Given the description of an element on the screen output the (x, y) to click on. 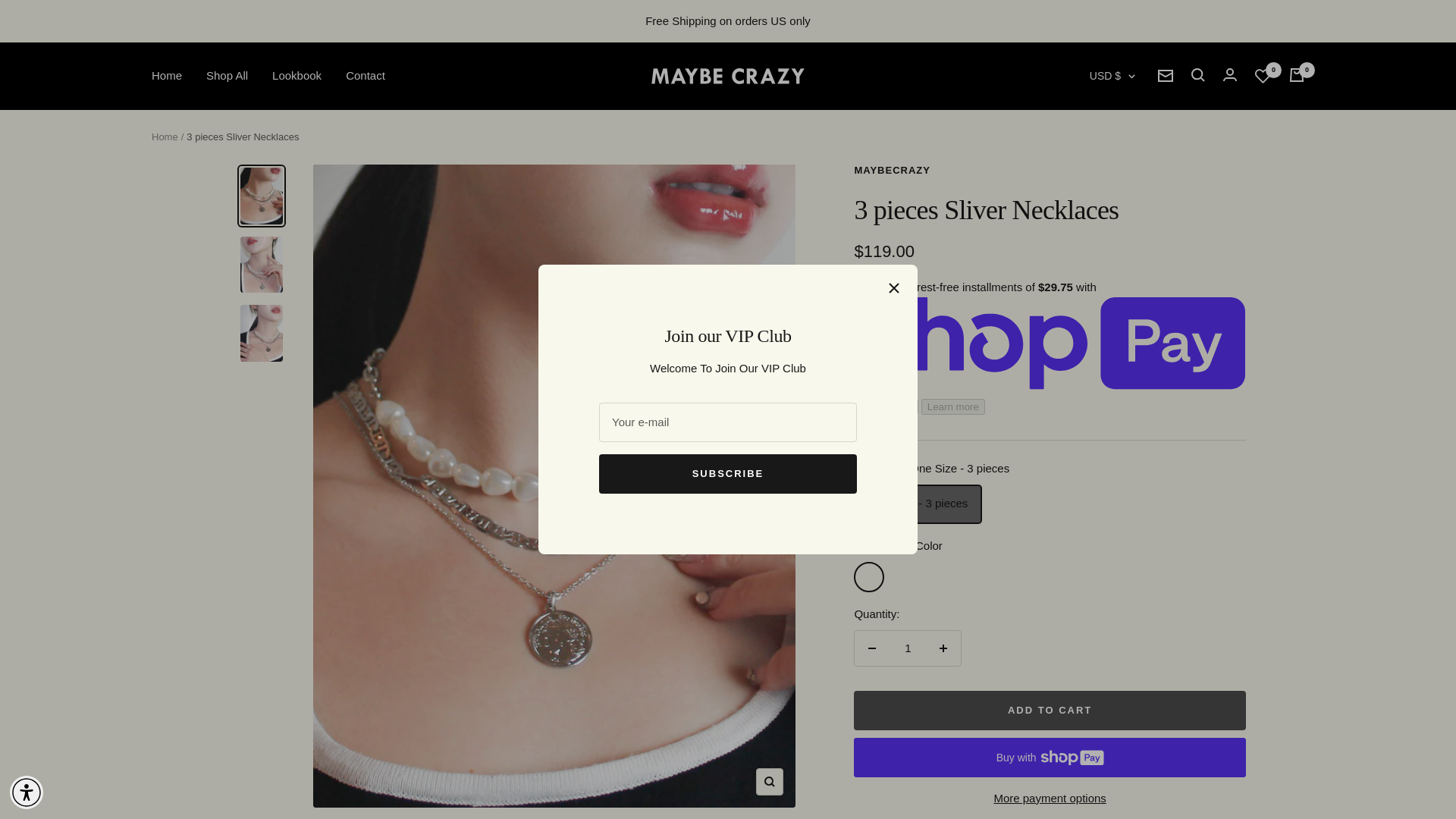
BGN (1096, 378)
CHF (1096, 553)
CAD (1096, 528)
DOP (1096, 728)
BZD (1096, 503)
ALL (1096, 152)
DKK (1096, 703)
DZD (1096, 753)
BDT (1096, 353)
CZK (1096, 653)
BWP (1096, 478)
BND (1096, 403)
Shop All (226, 75)
AED (1096, 127)
